Given the description of an element on the screen output the (x, y) to click on. 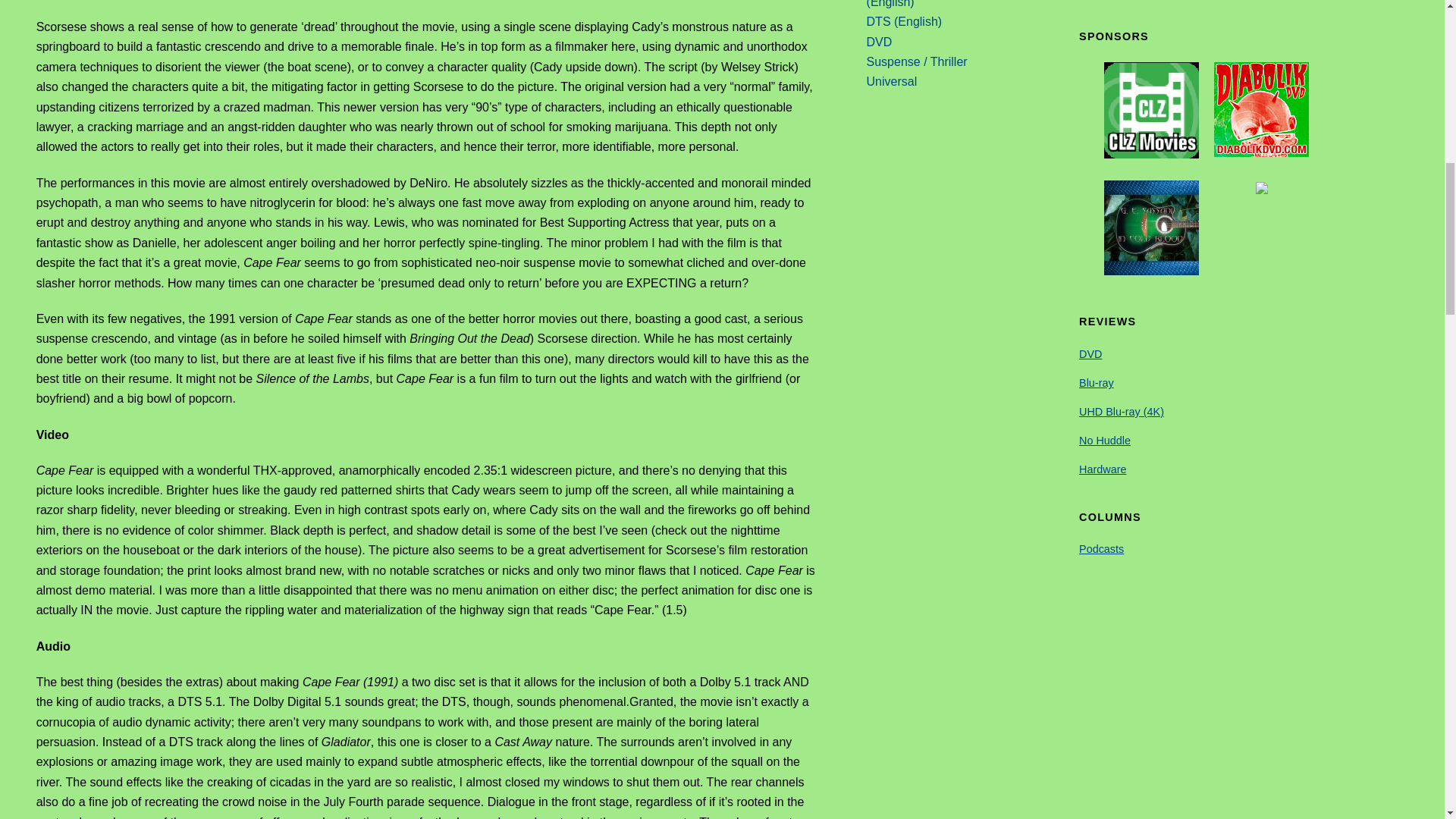
DVD (879, 42)
Universal (891, 81)
